Given the description of an element on the screen output the (x, y) to click on. 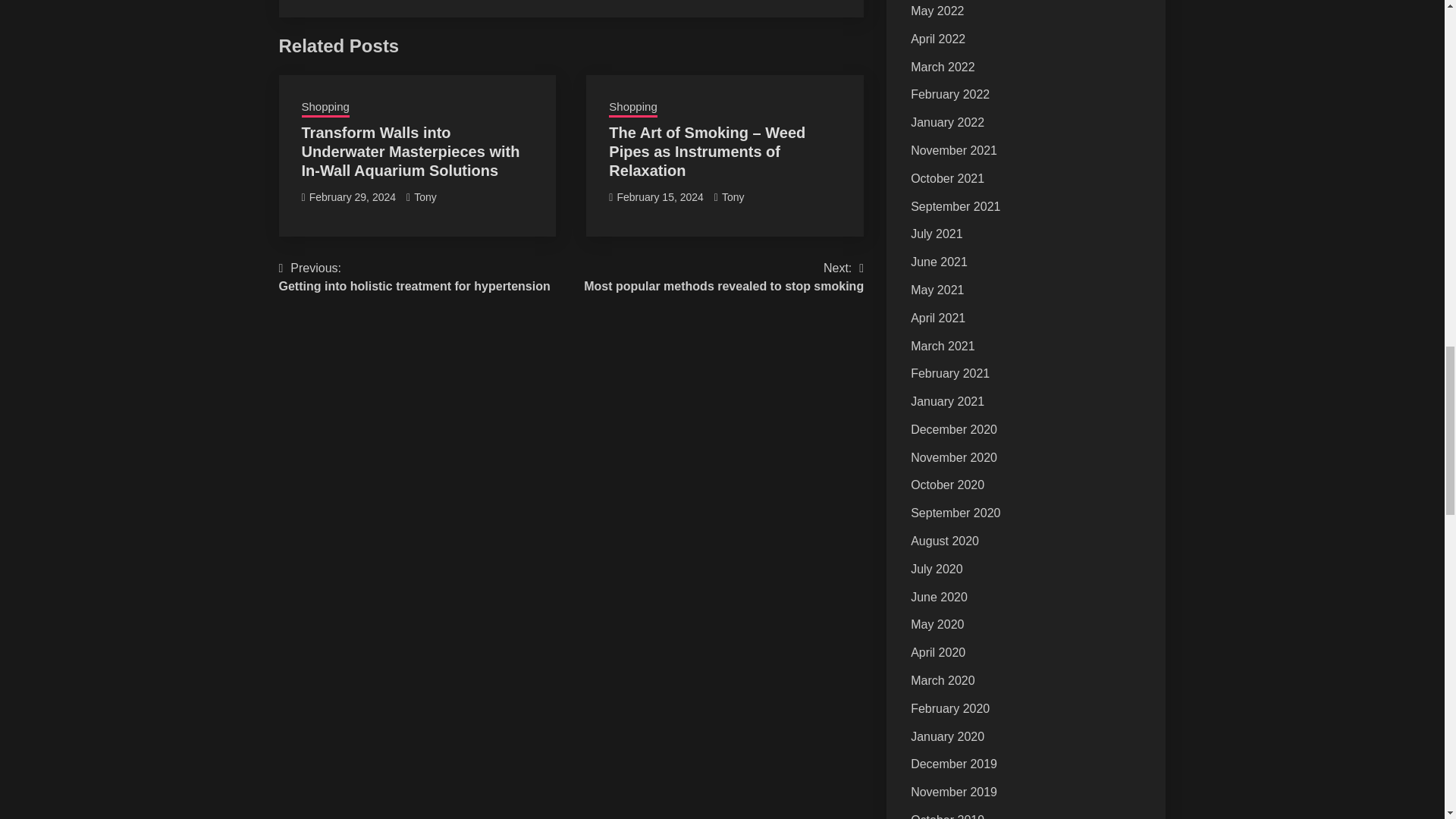
Tony (424, 196)
Shopping (325, 107)
Tony (733, 196)
Shopping (632, 107)
February 29, 2024 (352, 196)
February 15, 2024 (414, 277)
